Given the description of an element on the screen output the (x, y) to click on. 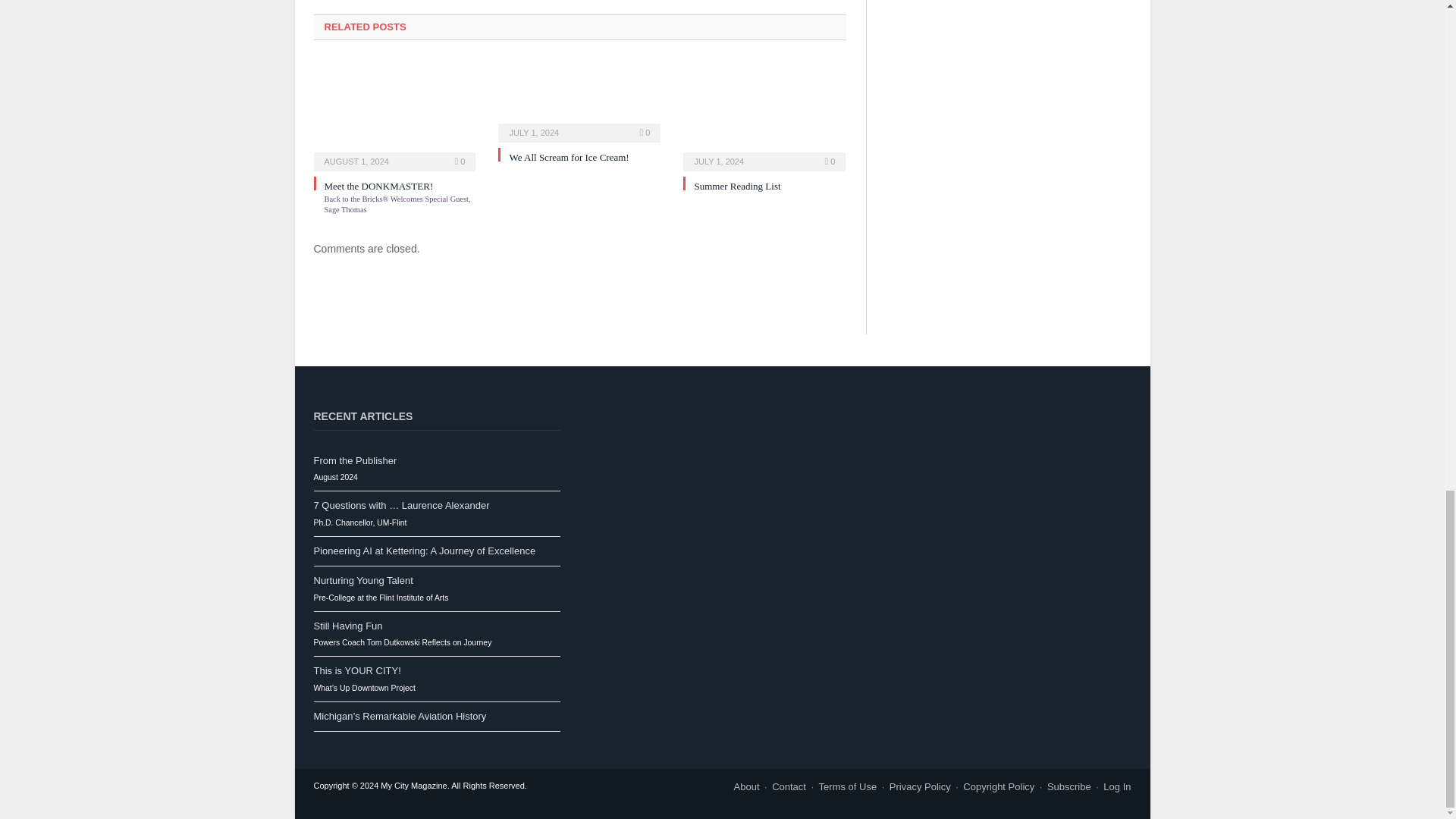
We All Scream for Ice Cream! (579, 99)
Summer Reading List (763, 114)
Summer Reading List (737, 185)
We All Scream for Ice Cream! (568, 156)
